Given the description of an element on the screen output the (x, y) to click on. 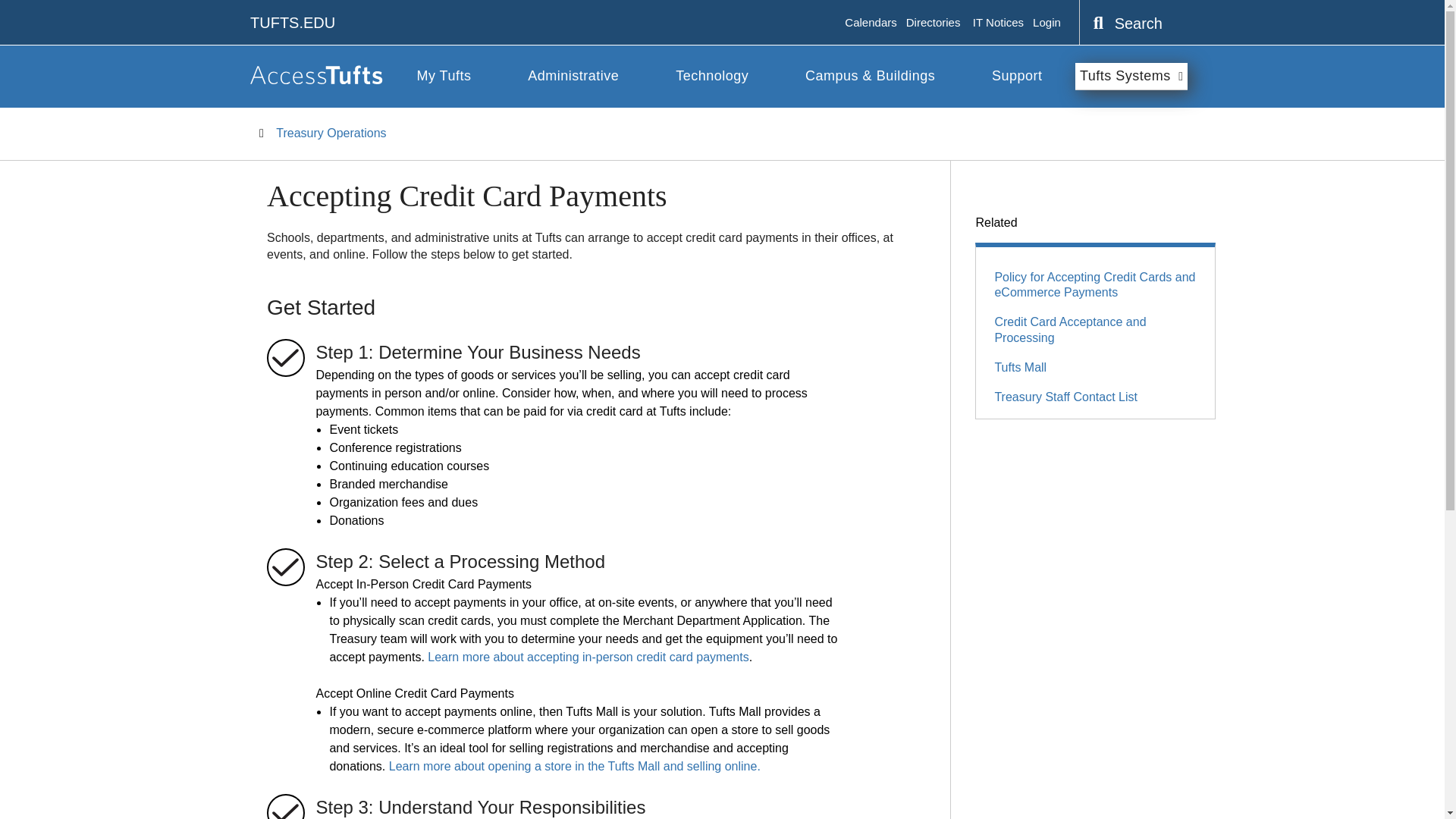
My Tufts (443, 75)
Administrative (572, 75)
Technology (711, 75)
TUFTS.EDU (292, 22)
Tufts University (292, 22)
Calendars (870, 22)
Directories (932, 22)
IT Notices (997, 22)
Login (1046, 22)
